Given the description of an element on the screen output the (x, y) to click on. 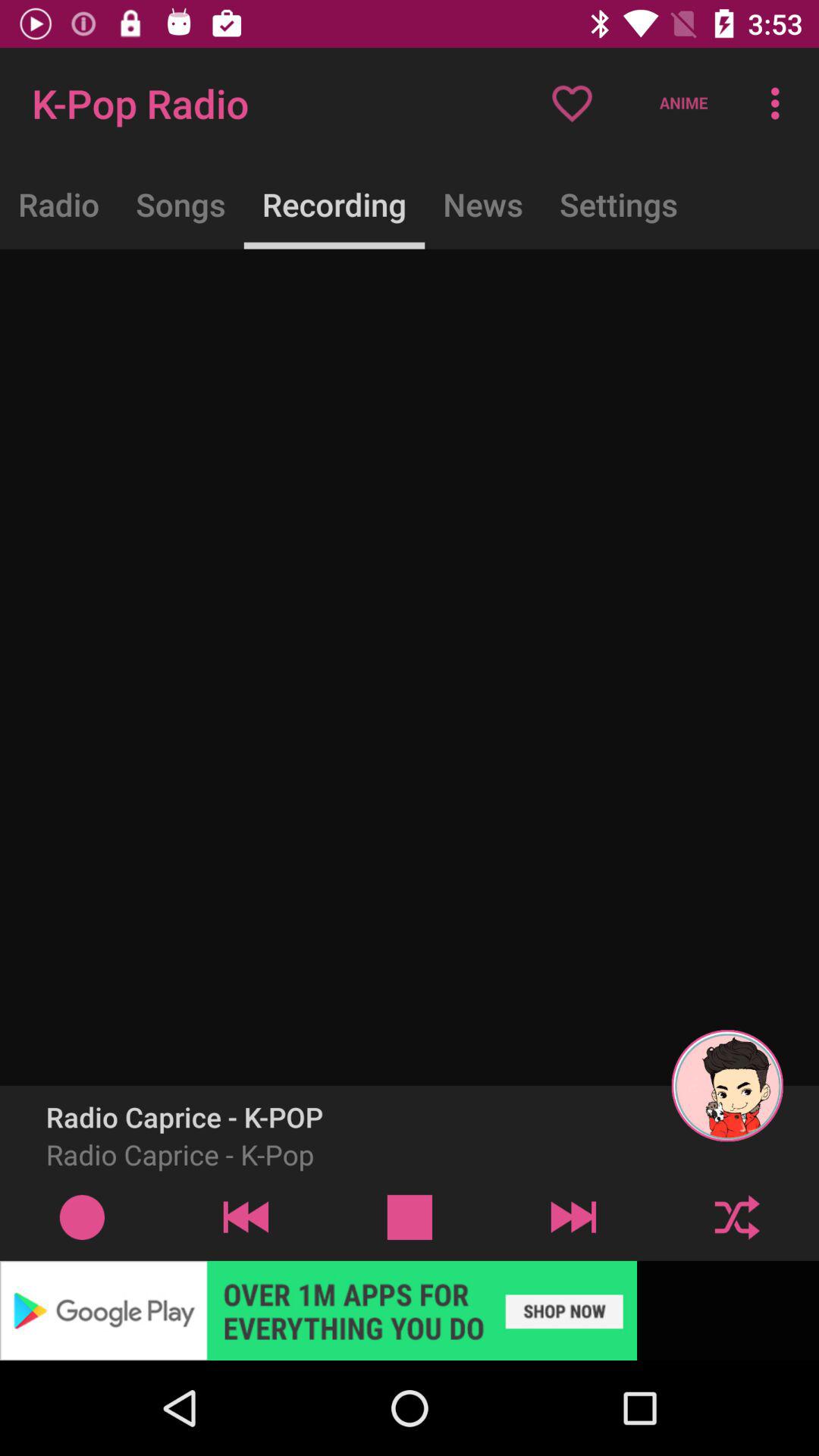
share button (737, 1216)
